Given the description of an element on the screen output the (x, y) to click on. 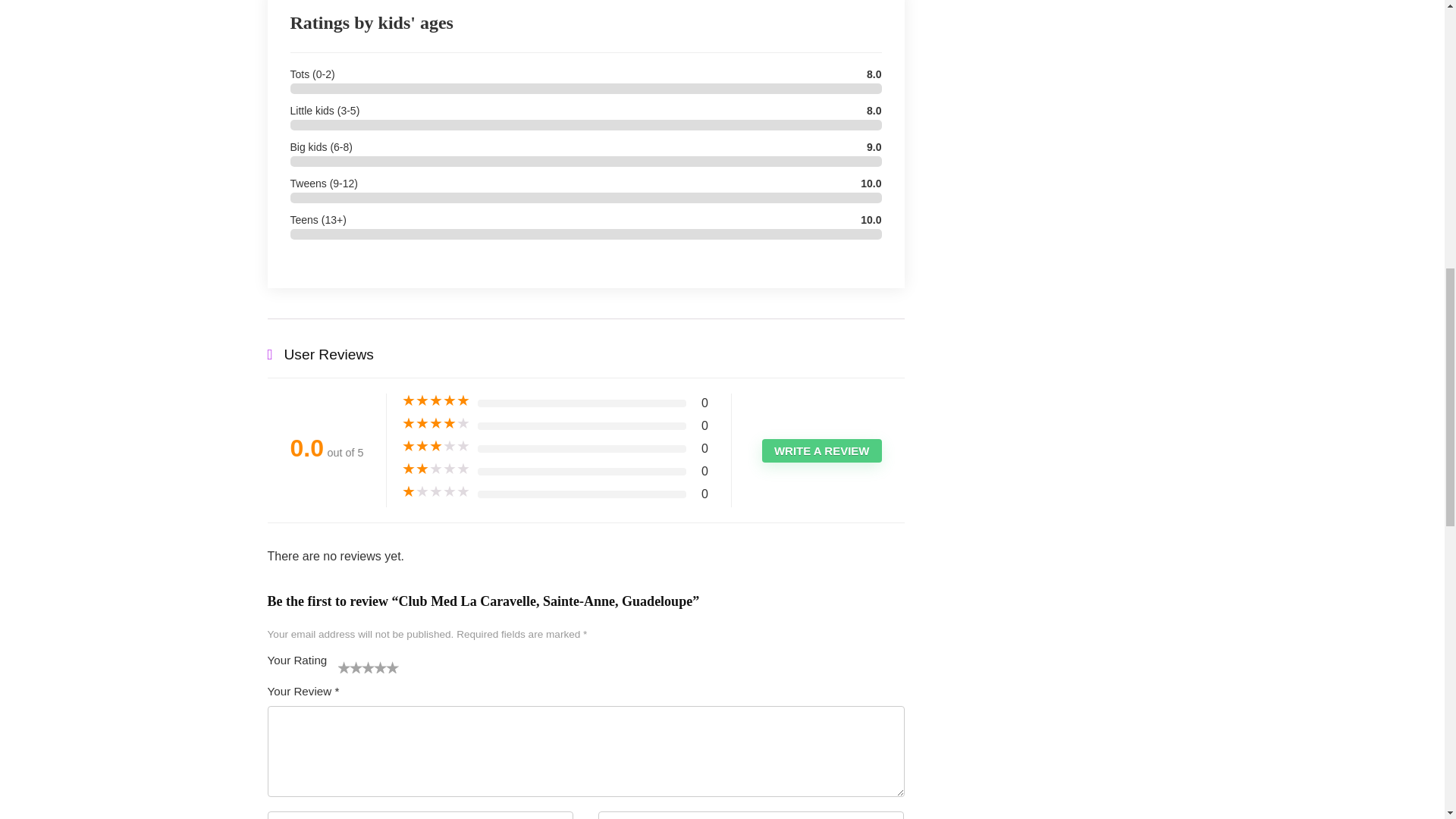
Rated 2 out of 5 (435, 468)
WRITE A REVIEW (821, 449)
Rated 3 out of 5 (435, 446)
Rated 4 out of 5 (435, 423)
Rated 5 out of 5 (435, 400)
Rated 1 out of 5 (435, 491)
